Given the description of an element on the screen output the (x, y) to click on. 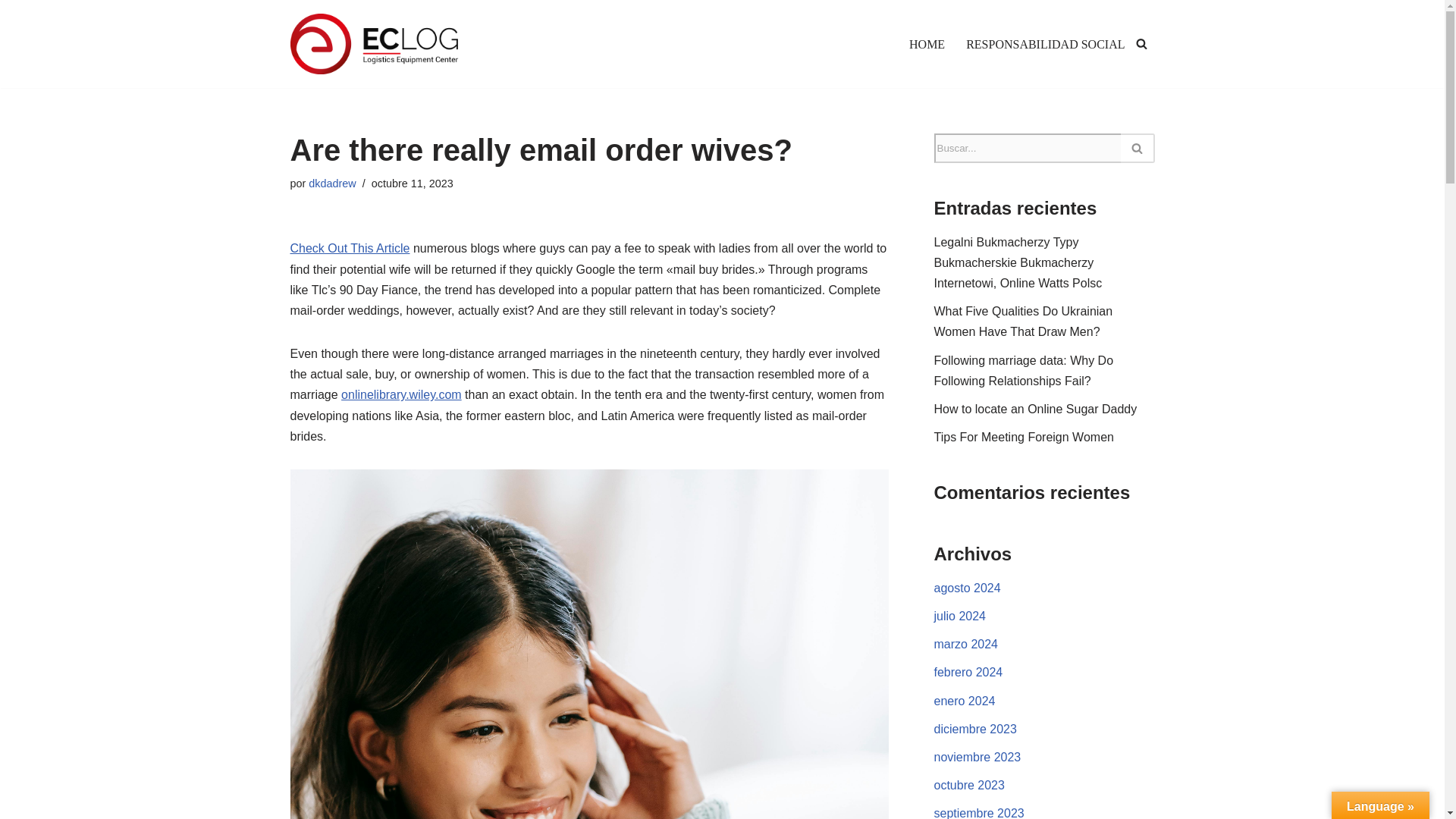
onlinelibrary.wiley.com (400, 394)
Saltar al contenido (11, 31)
Entradas de dkdadrew (331, 183)
Tips For Meeting Foreign Women (1023, 436)
How to locate an Online Sugar Daddy (1035, 408)
diciembre 2023 (975, 728)
febrero 2024 (968, 671)
septiembre 2023 (979, 812)
octubre 2023 (969, 784)
HOME (926, 44)
